Given the description of an element on the screen output the (x, y) to click on. 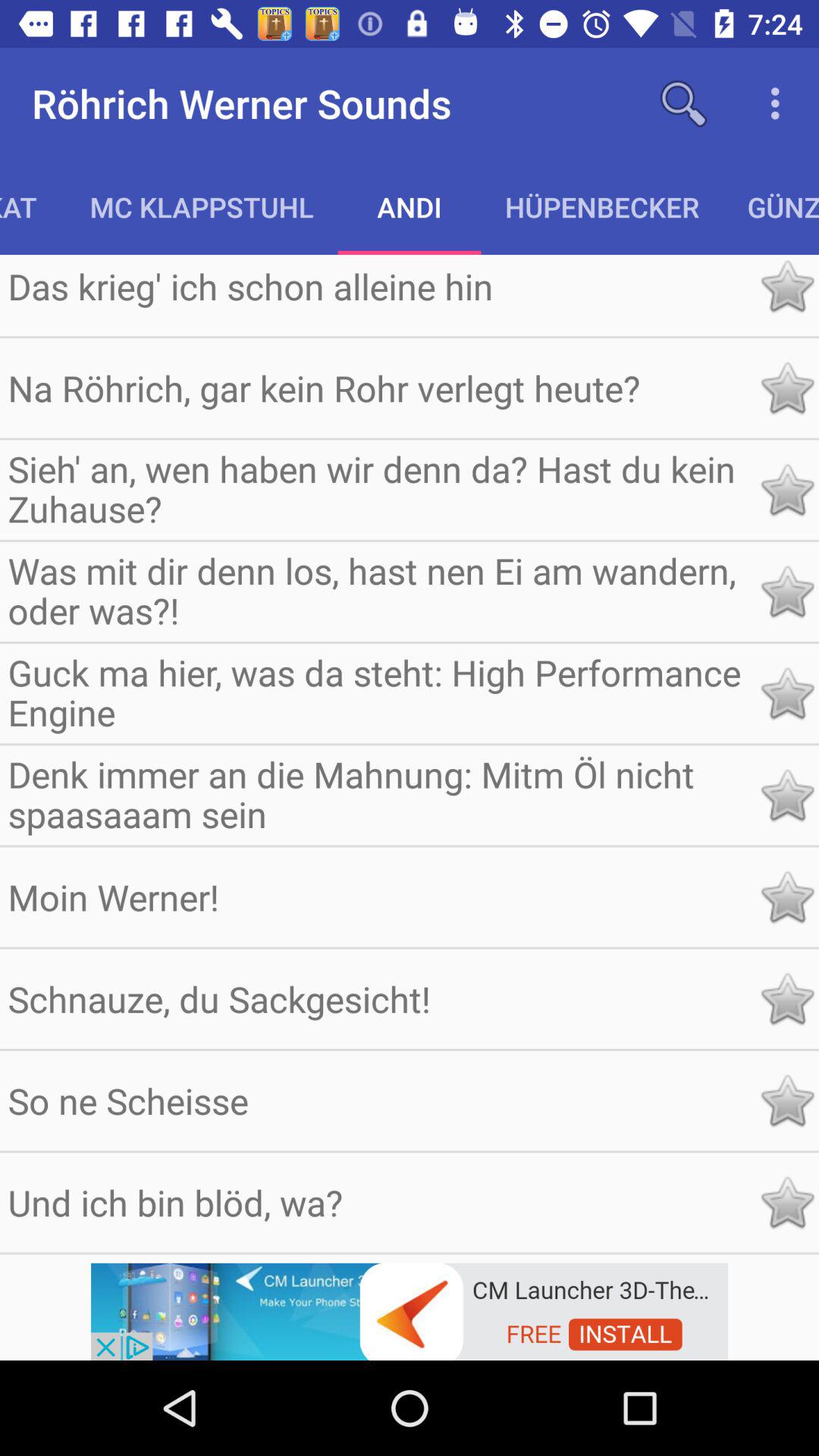
star (787, 896)
